Given the description of an element on the screen output the (x, y) to click on. 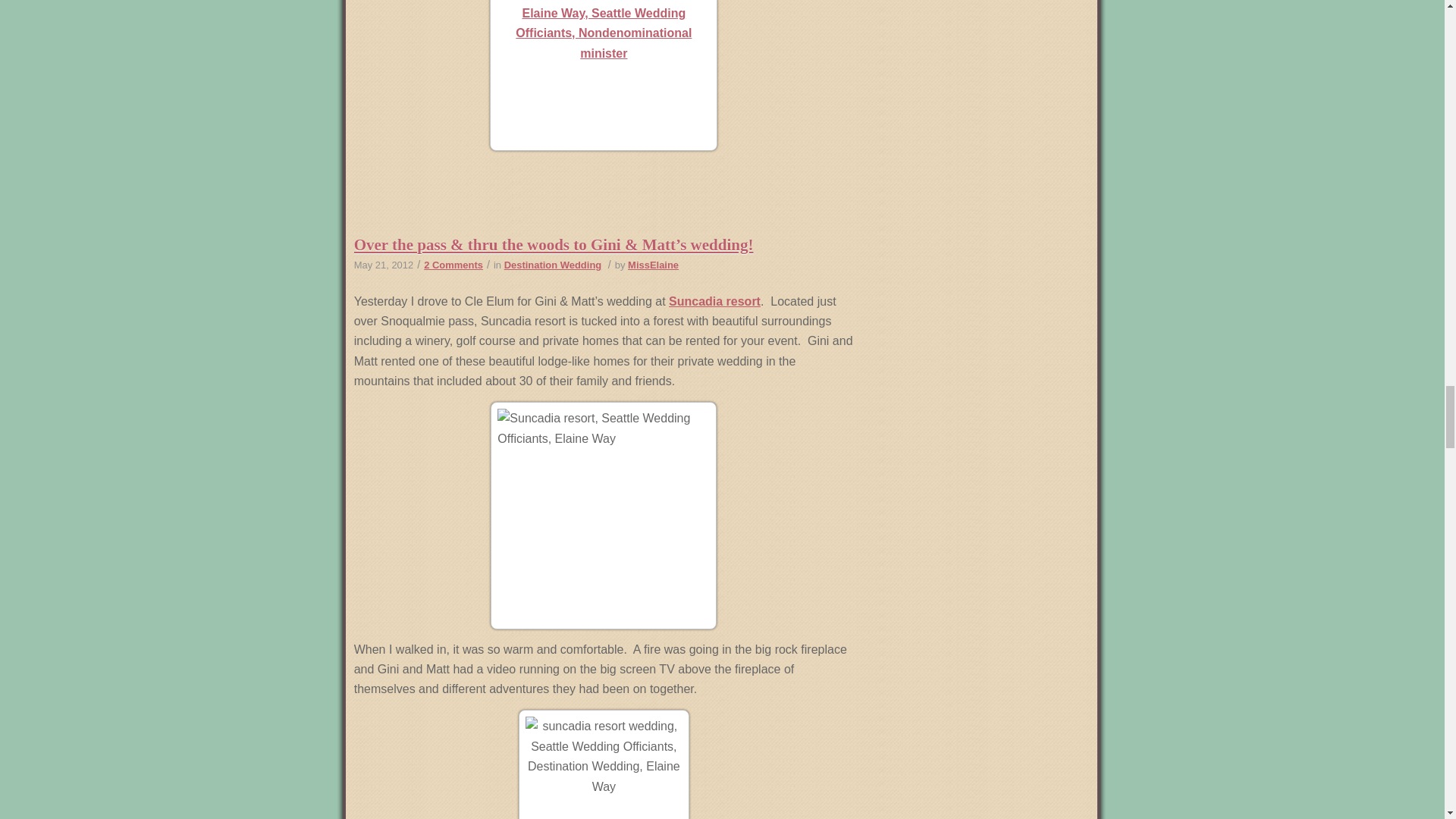
Posts by MissElaine (652, 265)
